Given the description of an element on the screen output the (x, y) to click on. 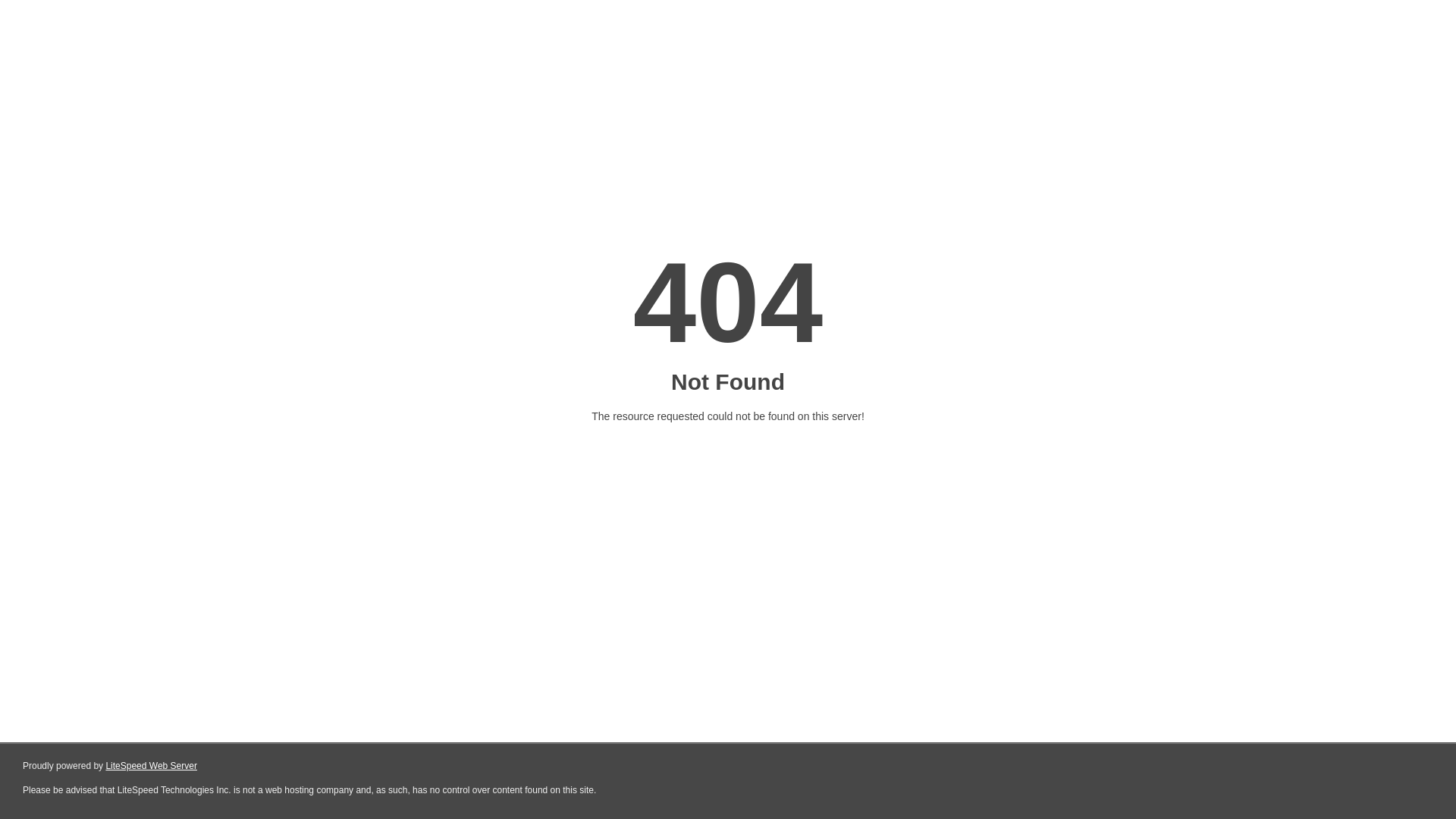
LiteSpeed Web Server Element type: text (151, 765)
